Given the description of an element on the screen output the (x, y) to click on. 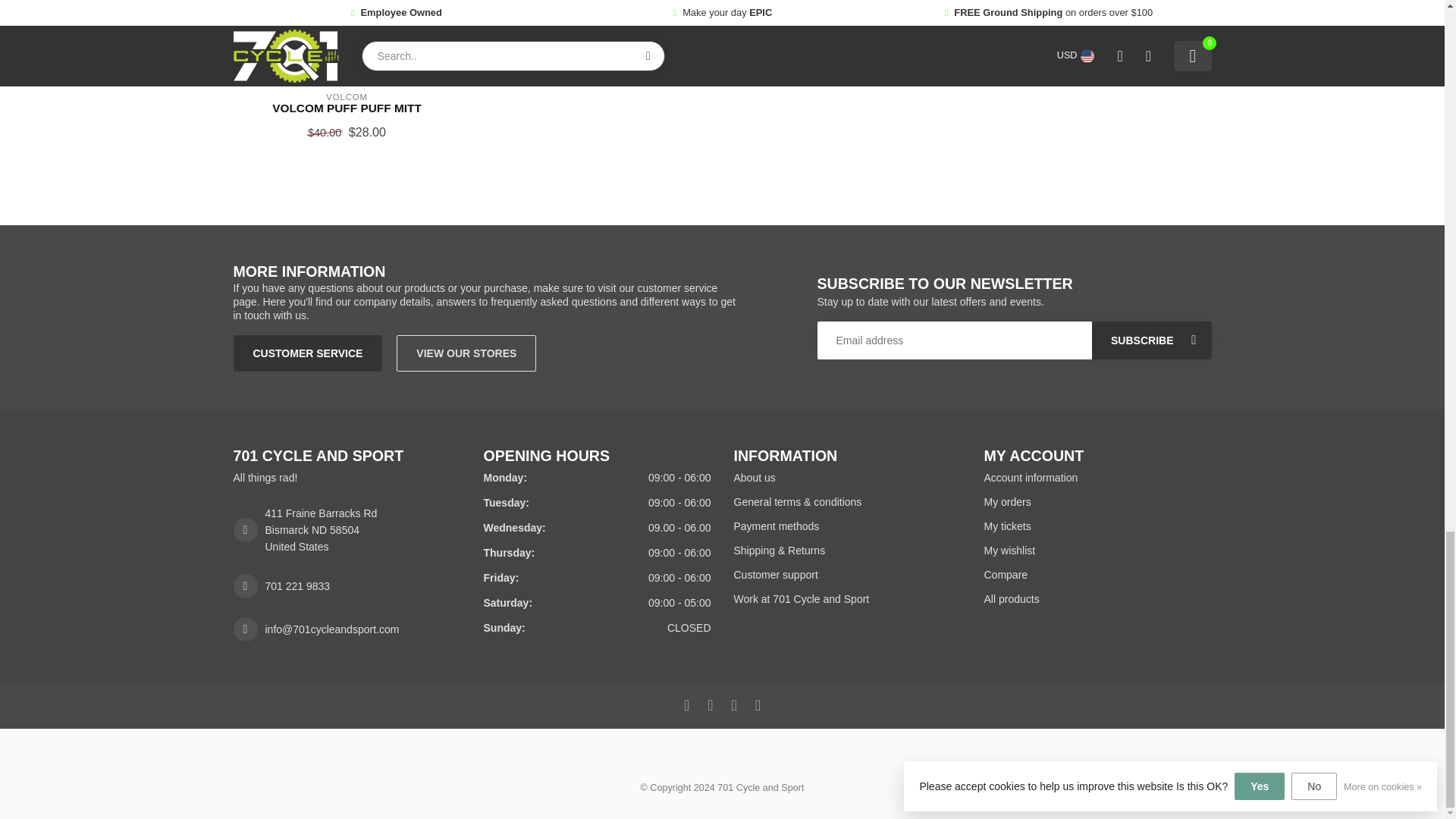
Payment methods (846, 526)
Account information (1097, 477)
Volcom Volcom Puff Puff Mitt (346, 40)
Work at 701 Cycle and Sport (846, 598)
Volcom Volcom Puff Puff Mitt (346, 108)
About us (846, 477)
Customer support (846, 574)
